Given the description of an element on the screen output the (x, y) to click on. 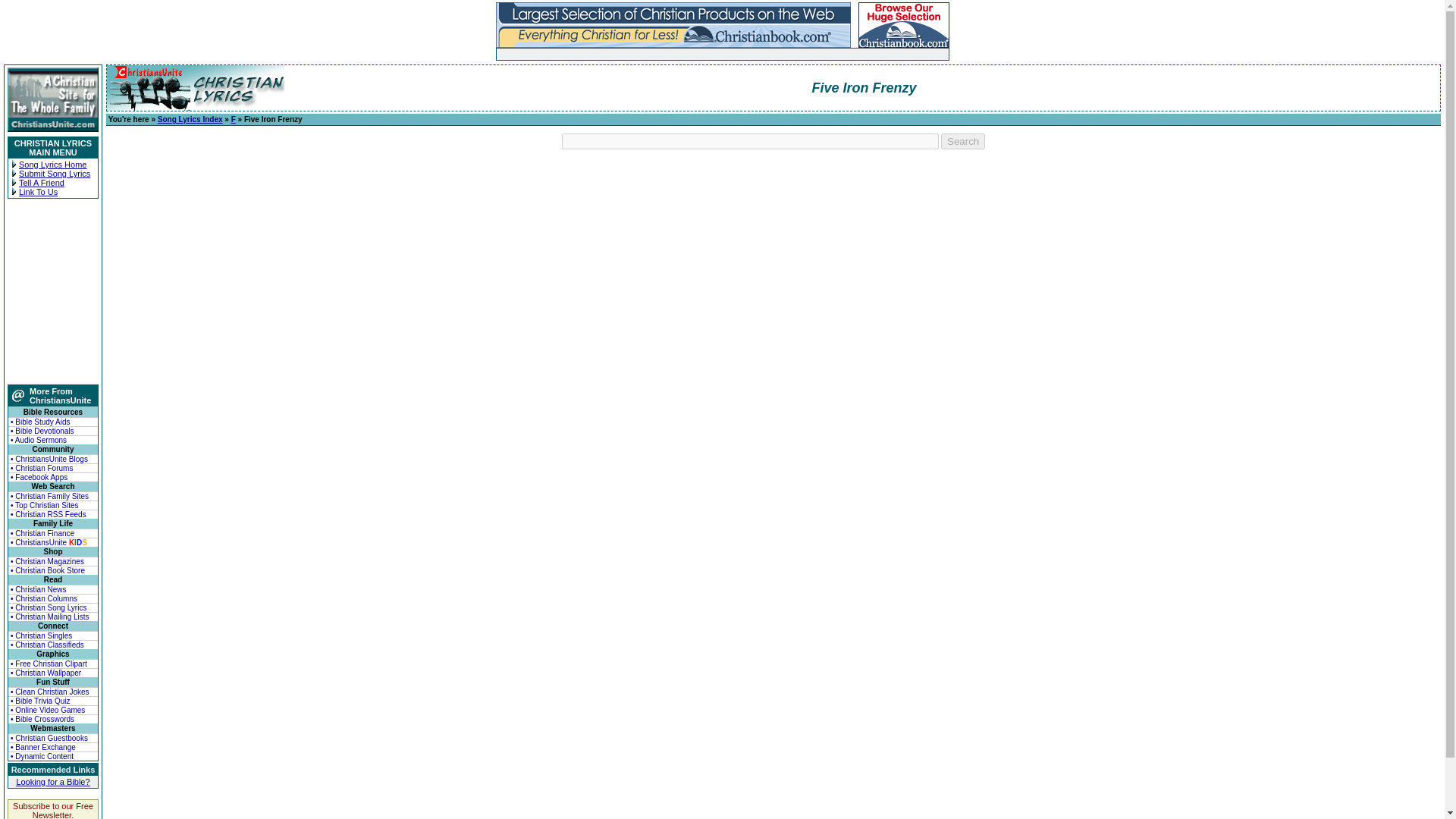
Song Lyrics Home (51, 163)
Search (962, 141)
Tell A Friend (41, 182)
Submit Song Lyrics (54, 173)
Search (962, 141)
Link To Us (38, 191)
Song Lyrics Index (189, 119)
Looking for a Bible? (52, 781)
